Given the description of an element on the screen output the (x, y) to click on. 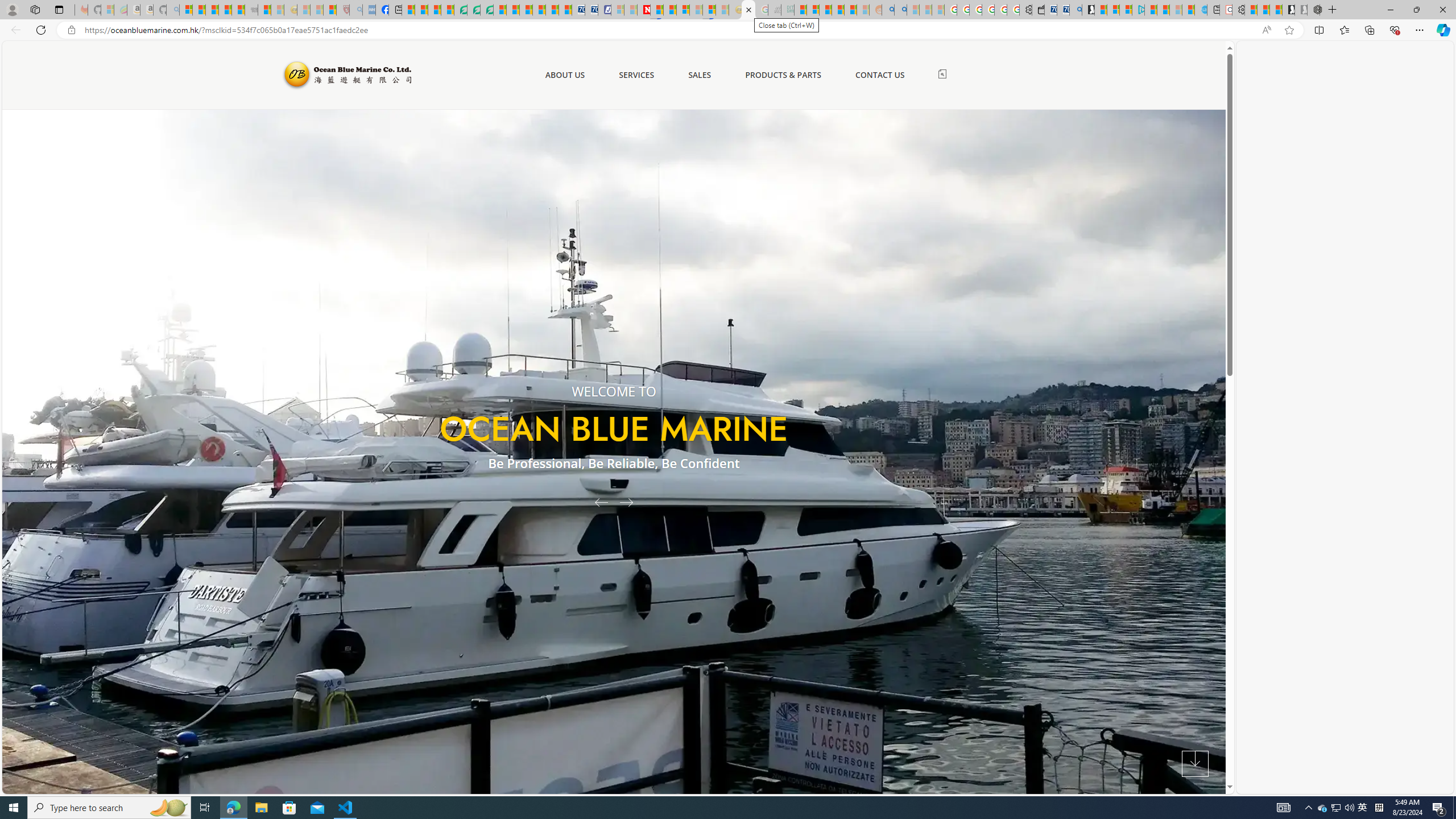
Next Section (1195, 764)
Ocean Blue Marine (345, 74)
Local - MSN (329, 9)
SALES (699, 74)
The Weather Channel - MSN (212, 9)
